Given the description of an element on the screen output the (x, y) to click on. 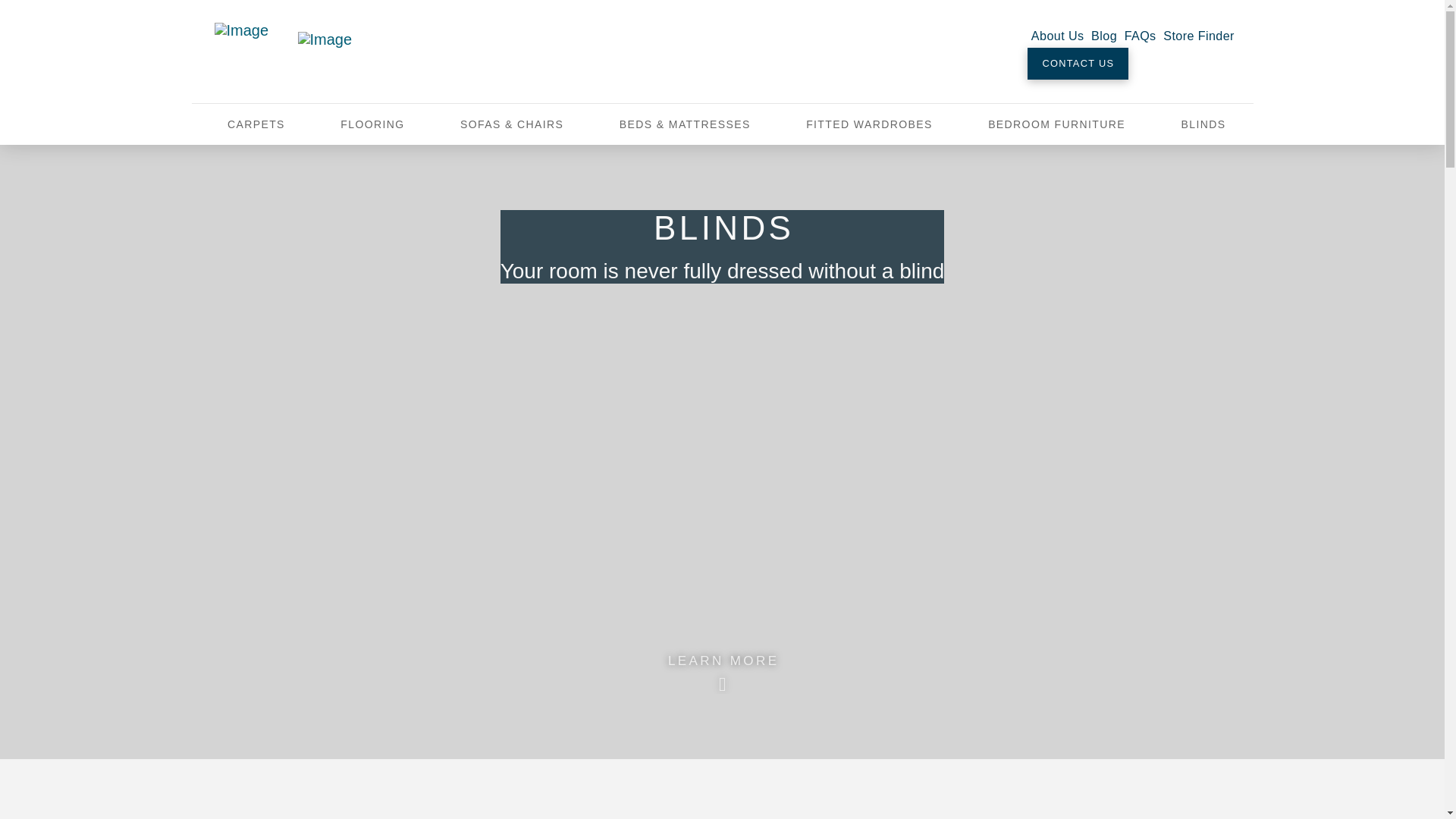
CONTACT US (1077, 63)
BEDROOM FURNITURE (1056, 124)
FLOORING (371, 124)
Store Finder (1197, 35)
FAQs (1140, 35)
BLINDS (1203, 124)
FITTED WARDROBES (868, 124)
CARPETS (255, 124)
LEARN MORE (721, 667)
About Us (1057, 35)
Blog (1104, 35)
